Given the description of an element on the screen output the (x, y) to click on. 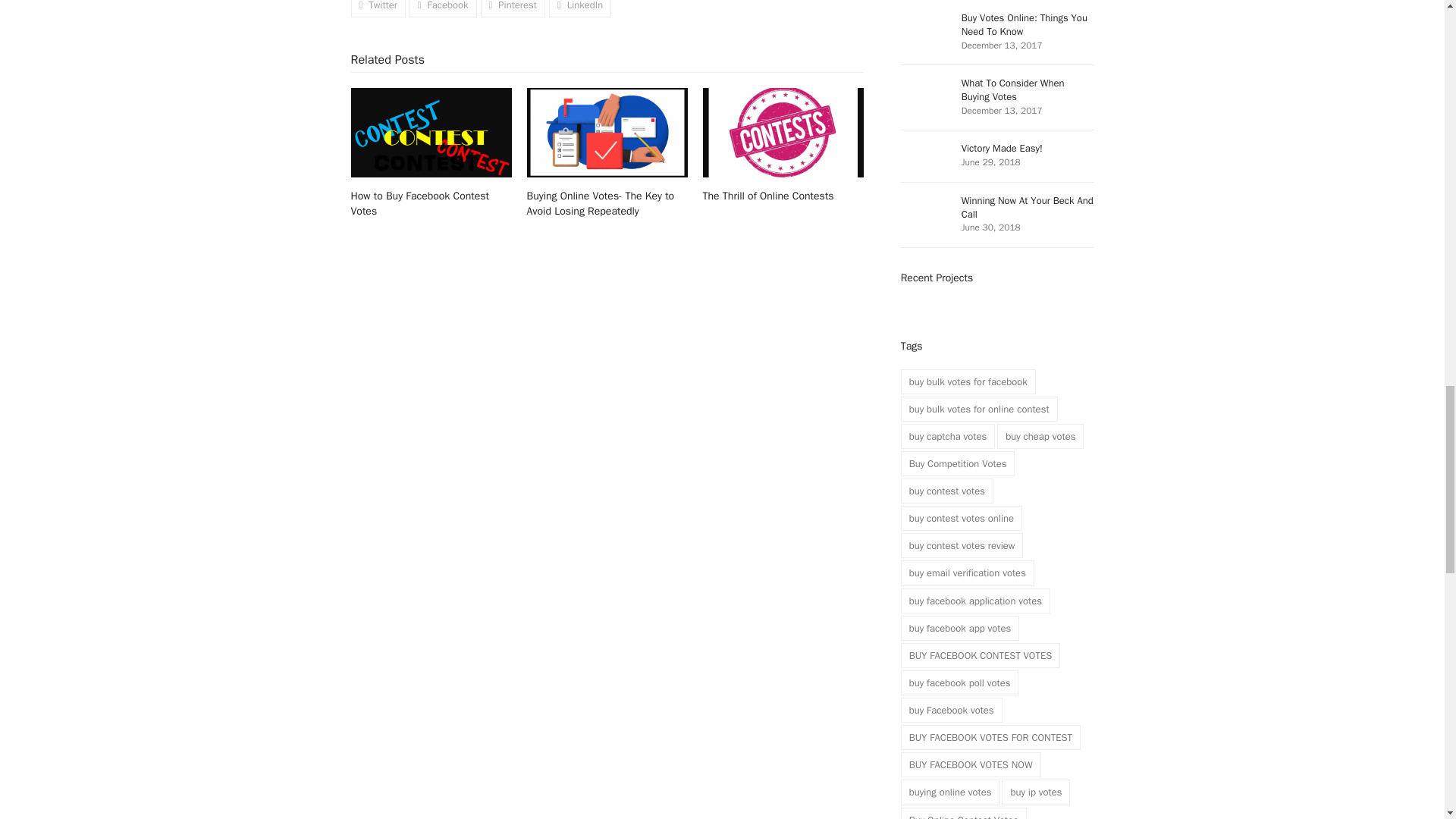
Facebook (443, 8)
How to Buy Facebook Contest Votes (430, 132)
Pinterest (512, 8)
Twitter (377, 8)
The Thrill of Online Contests (783, 132)
Buying Online Votes- The Key to Avoid Losing Repeatedly (607, 132)
